Given the description of an element on the screen output the (x, y) to click on. 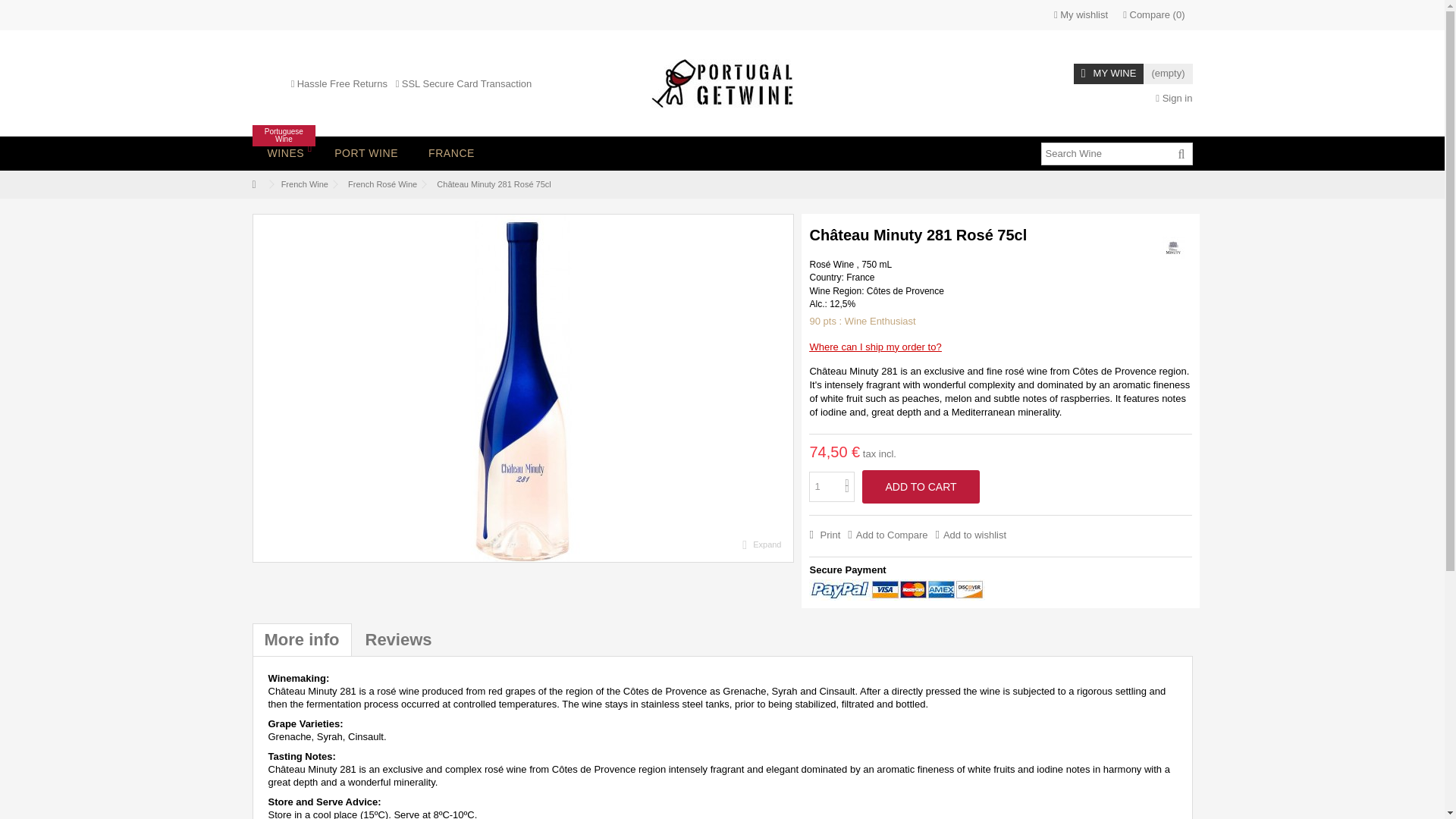
1 (831, 486)
My wishlist (1080, 14)
